Given the description of an element on the screen output the (x, y) to click on. 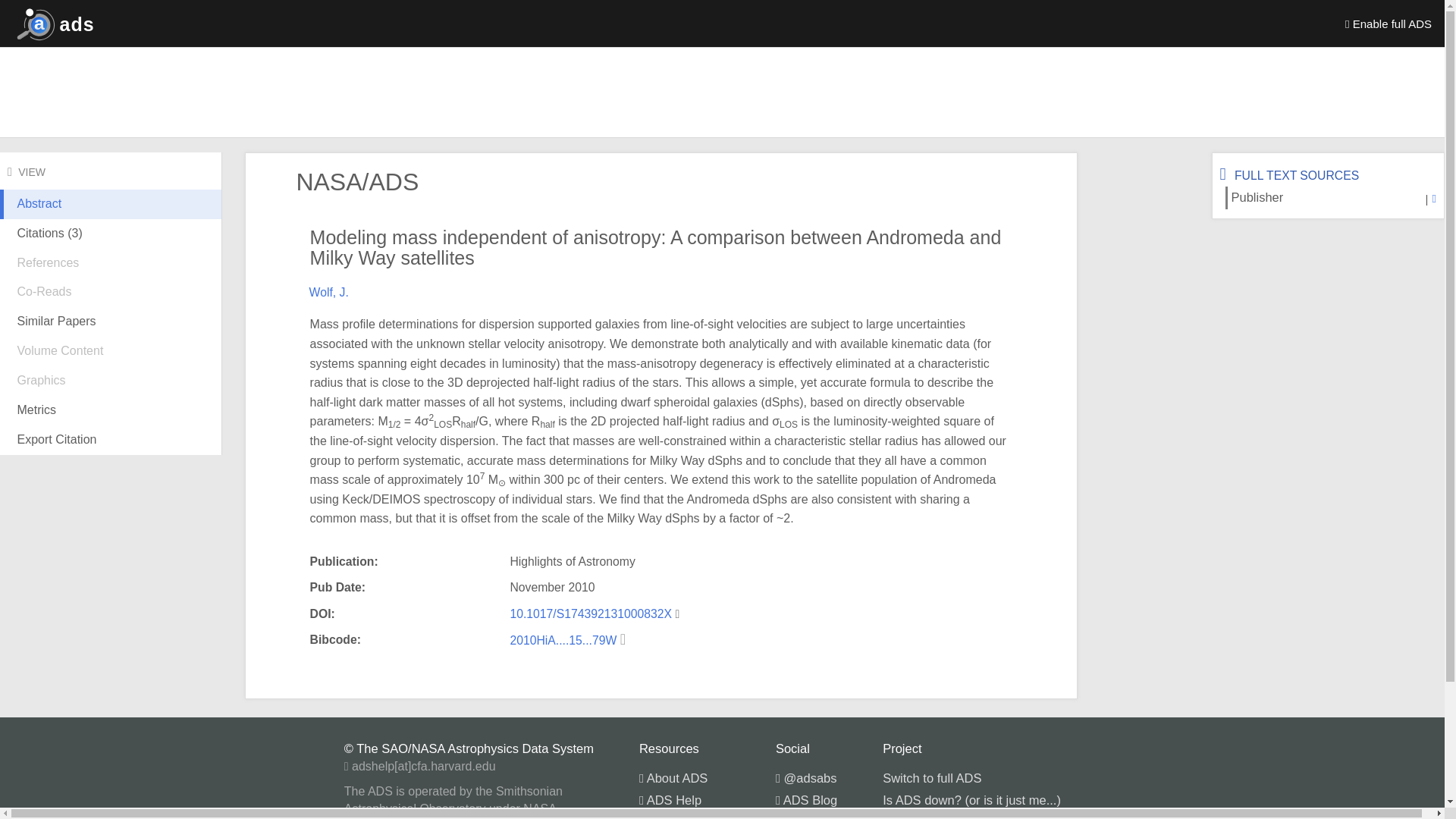
ADS Help (670, 799)
Wolf, J. (328, 291)
ADS Blog (806, 799)
Similar Papers (110, 321)
2010HiA....15...79W (564, 640)
Export Citation (110, 440)
Enable full ADS (1388, 23)
Smithsonian Institution (945, 816)
ads (51, 22)
What's New (676, 816)
Metrics (110, 410)
Switch to full ADS (931, 777)
About ADS (673, 777)
Abstract (110, 215)
